Given the description of an element on the screen output the (x, y) to click on. 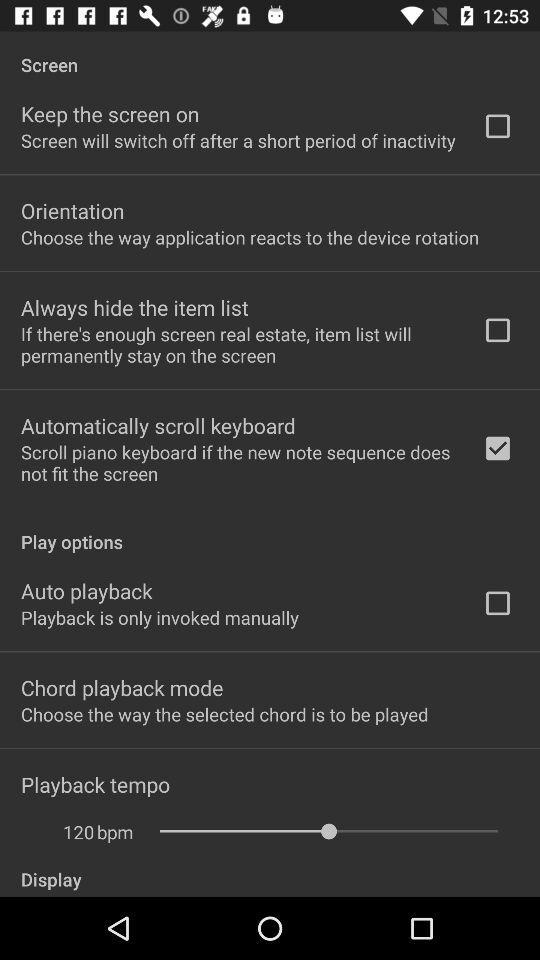
launch item to the right of bpm app (328, 831)
